Given the description of an element on the screen output the (x, y) to click on. 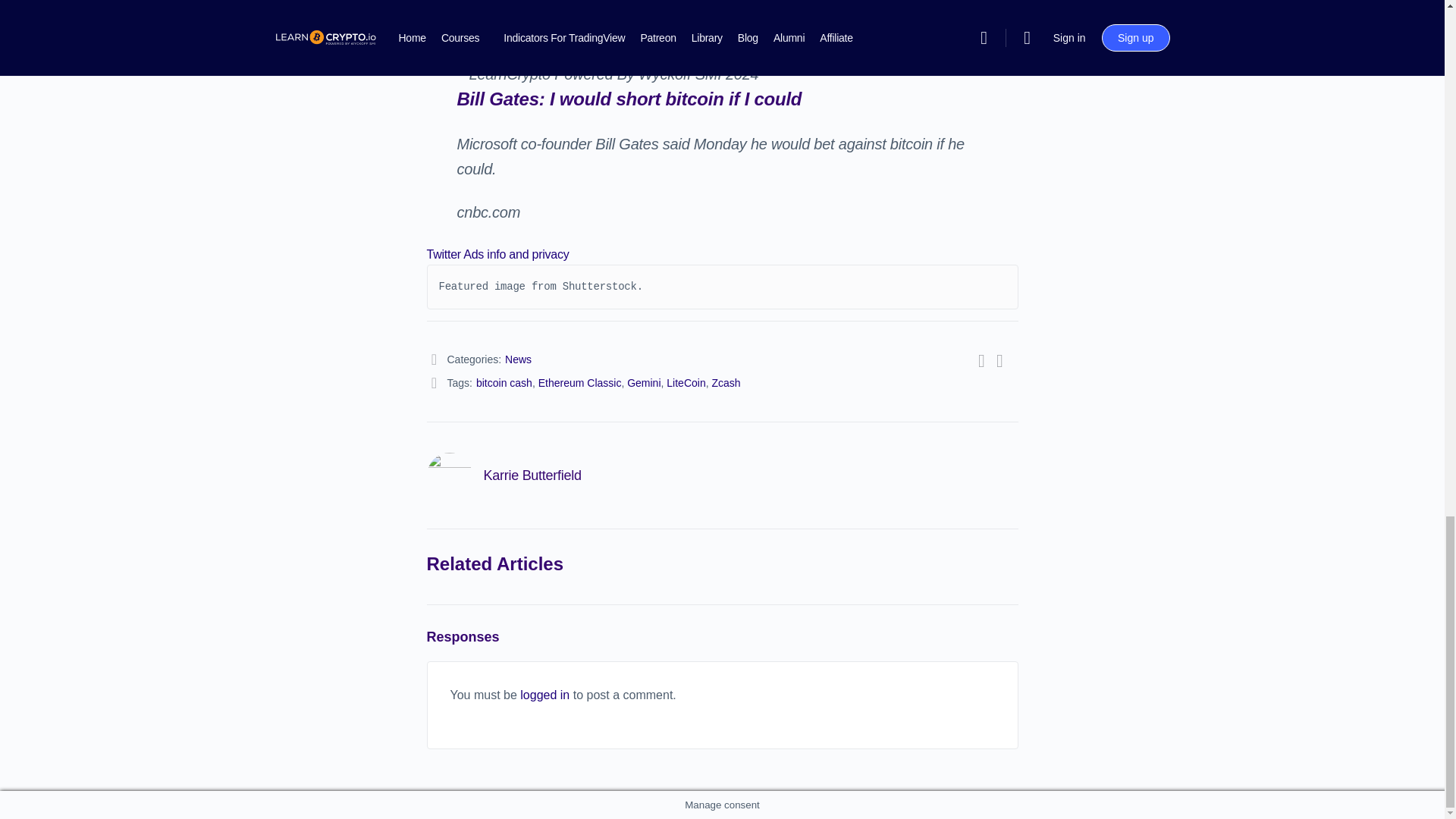
Twitter Ads info and privacy (497, 254)
